Given the description of an element on the screen output the (x, y) to click on. 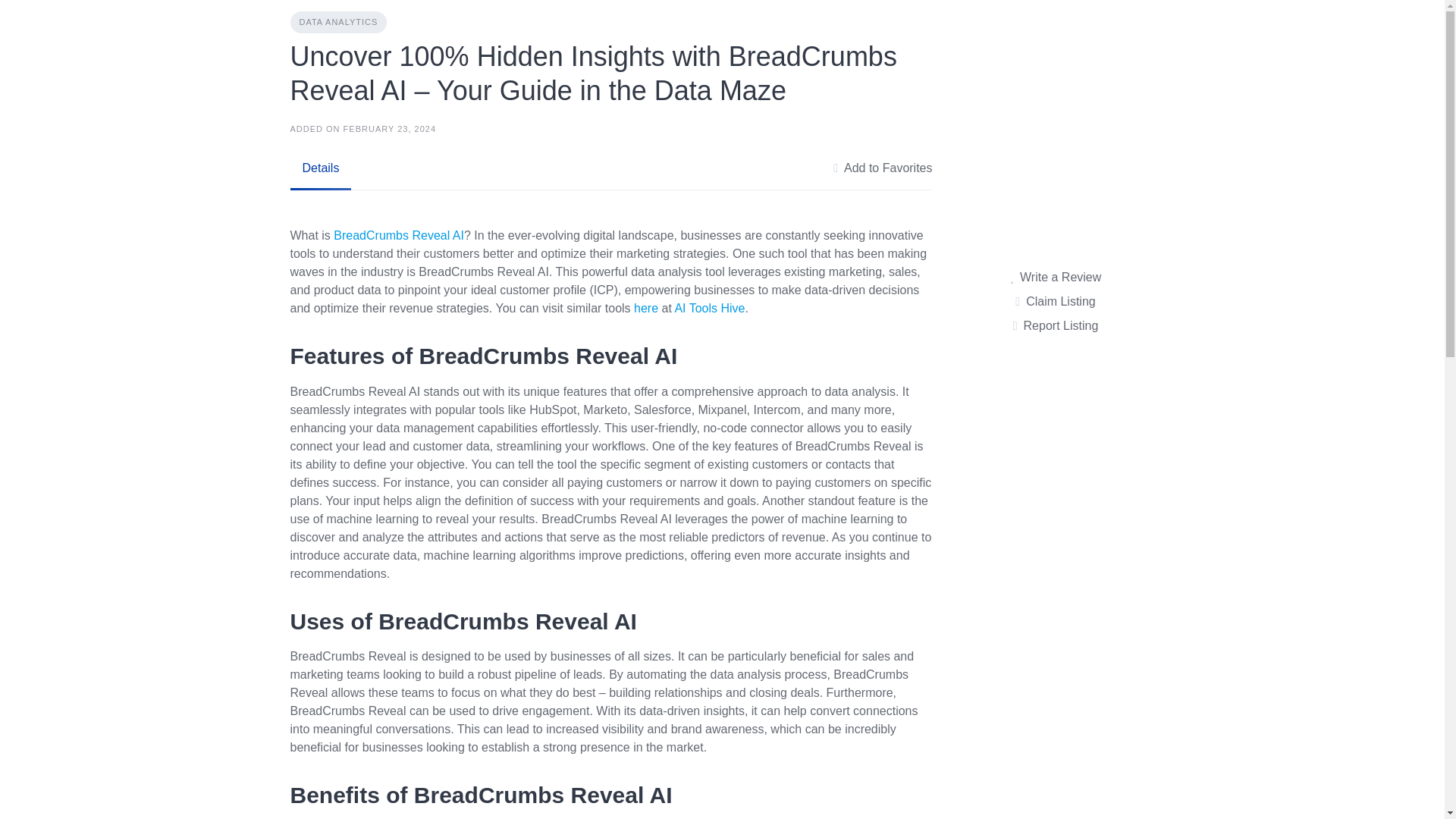
Claim Listing (1054, 301)
AI Tools Hive (709, 308)
Write a Review (1056, 277)
here (647, 308)
Details (320, 167)
Add to Favorites (881, 167)
Report Listing (1056, 325)
DATA ANALYTICS (338, 22)
BreadCrumbs Reveal AI (398, 235)
